Given the description of an element on the screen output the (x, y) to click on. 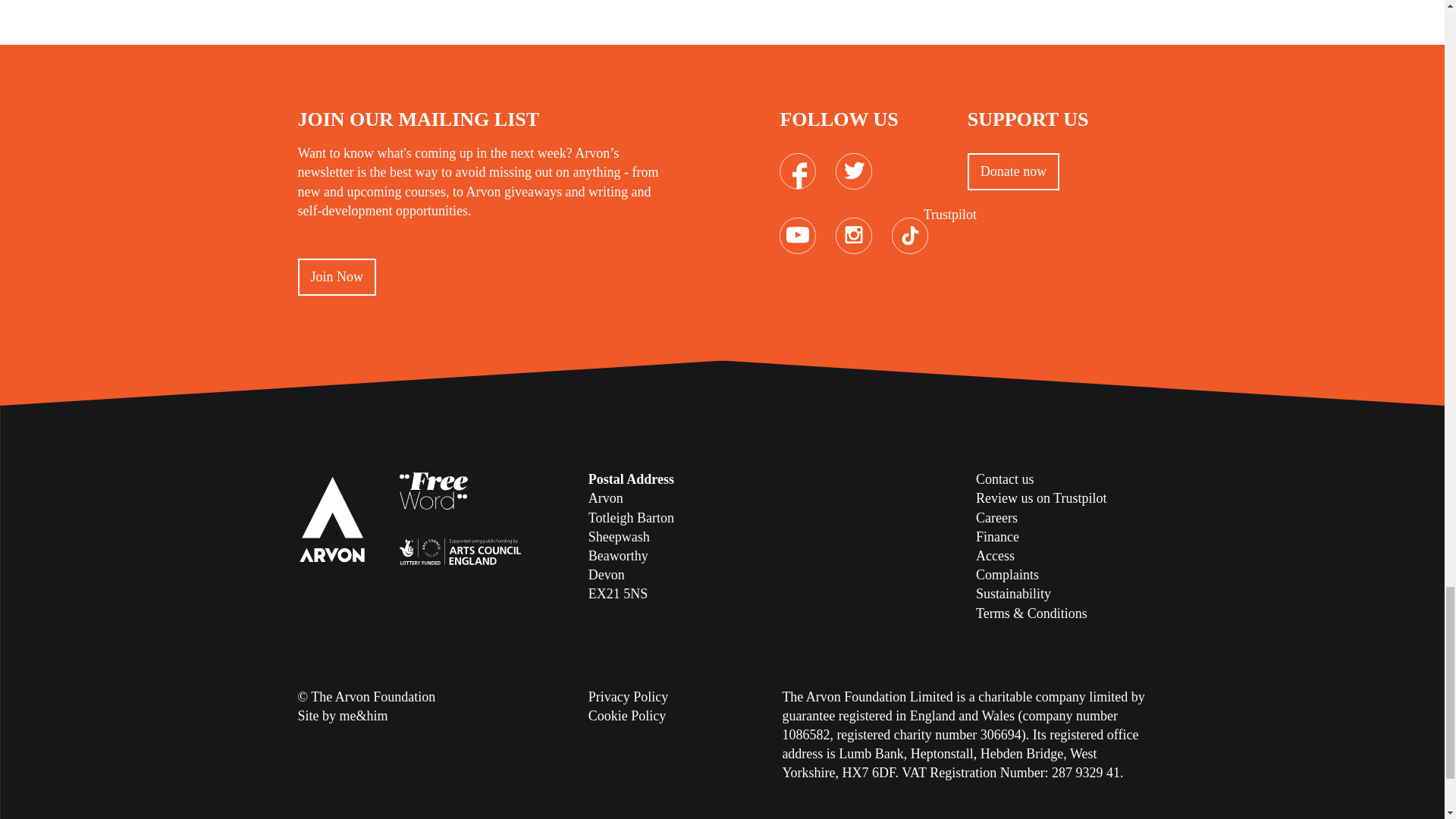
Facebook (796, 162)
